Given the description of an element on the screen output the (x, y) to click on. 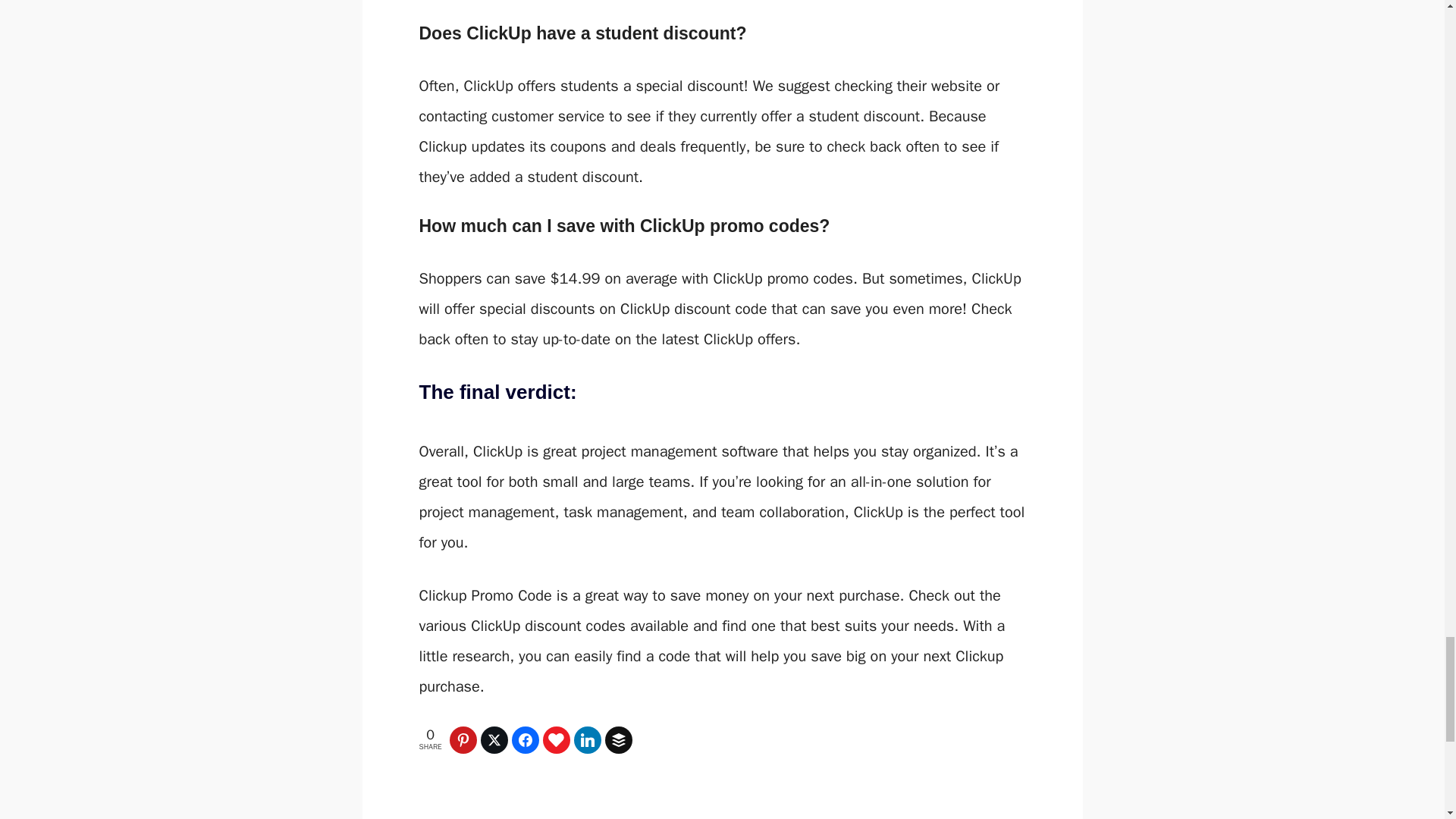
Share on LinkedIn (589, 739)
Share on Love This (558, 739)
Share on Buffer (620, 739)
0 (496, 739)
Share on Facebook (527, 739)
0 (527, 739)
0 (558, 739)
0 (620, 739)
0 (589, 739)
Share on Pinterest (464, 739)
